Given the description of an element on the screen output the (x, y) to click on. 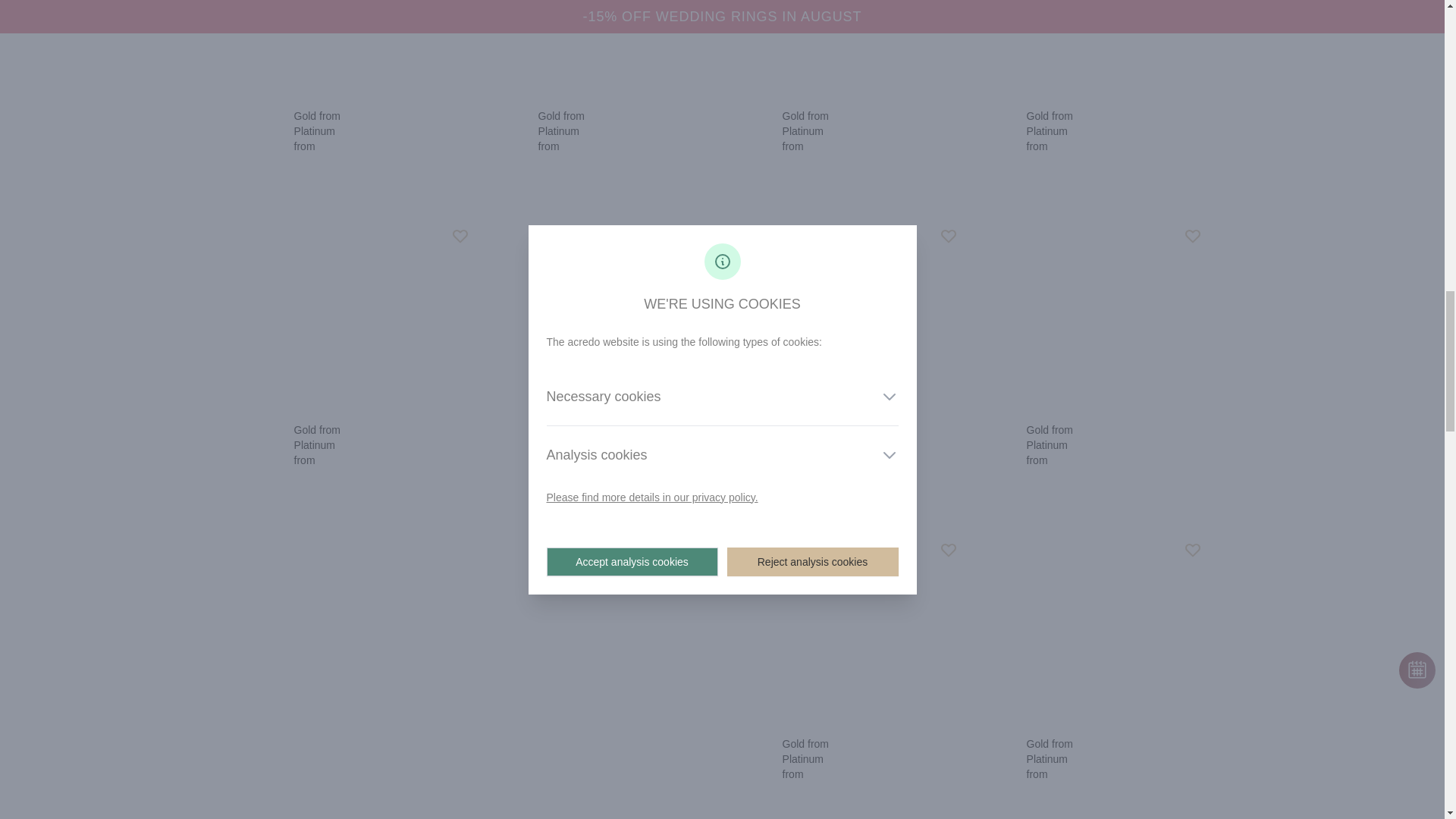
S-1291-1 (354, 48)
A-1401-1 (354, 315)
A-1602-1 (1087, 48)
A-1403-1 (844, 315)
A-1407-8 (1087, 315)
A-2344-2 (844, 48)
S-1271-5 (599, 48)
A-2648-1 (599, 315)
A-1531-3 (1087, 628)
A-2655-1 (844, 628)
